Given the description of an element on the screen output the (x, y) to click on. 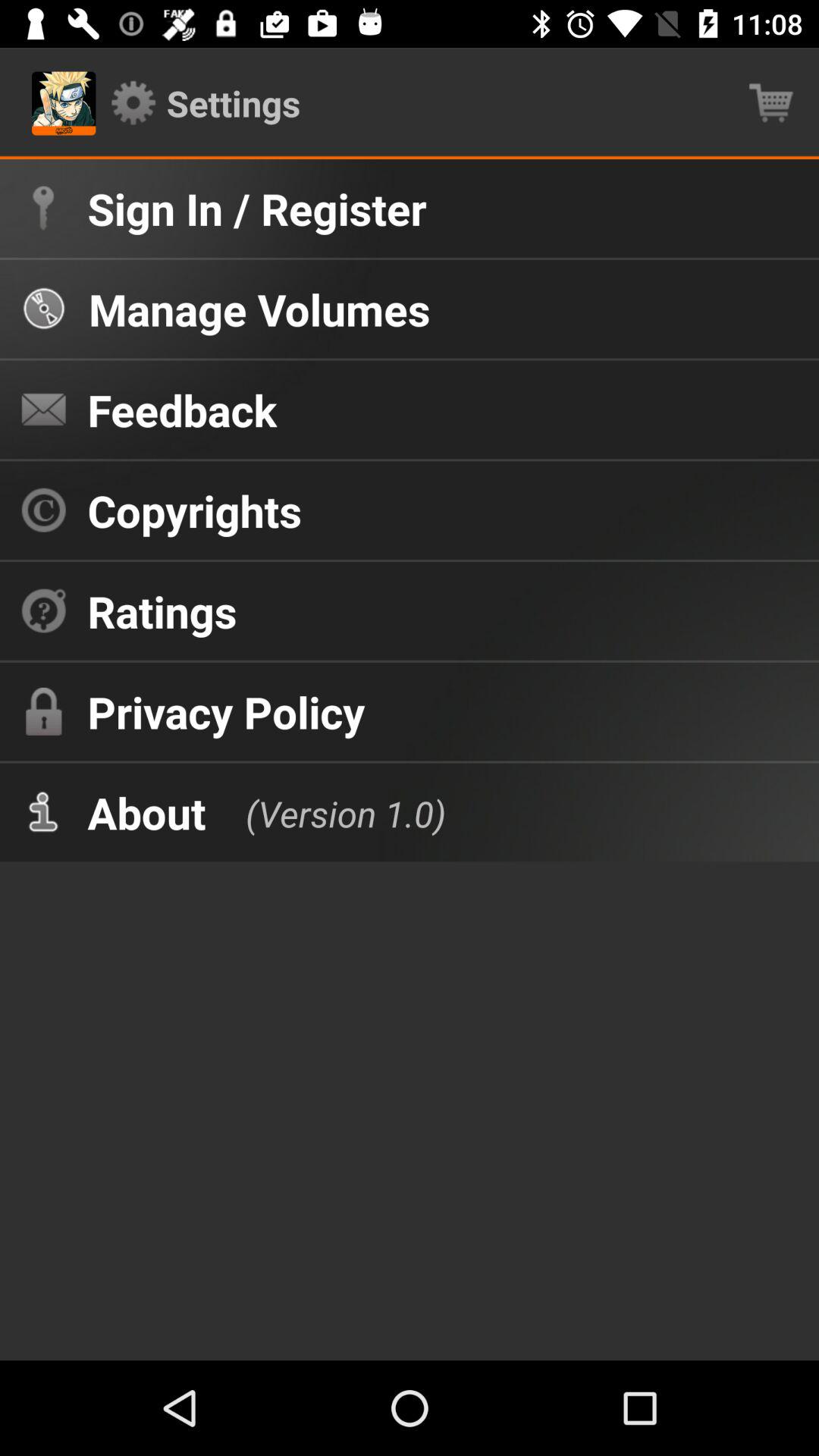
launch the icon above the ratings icon (194, 510)
